Given the description of an element on the screen output the (x, y) to click on. 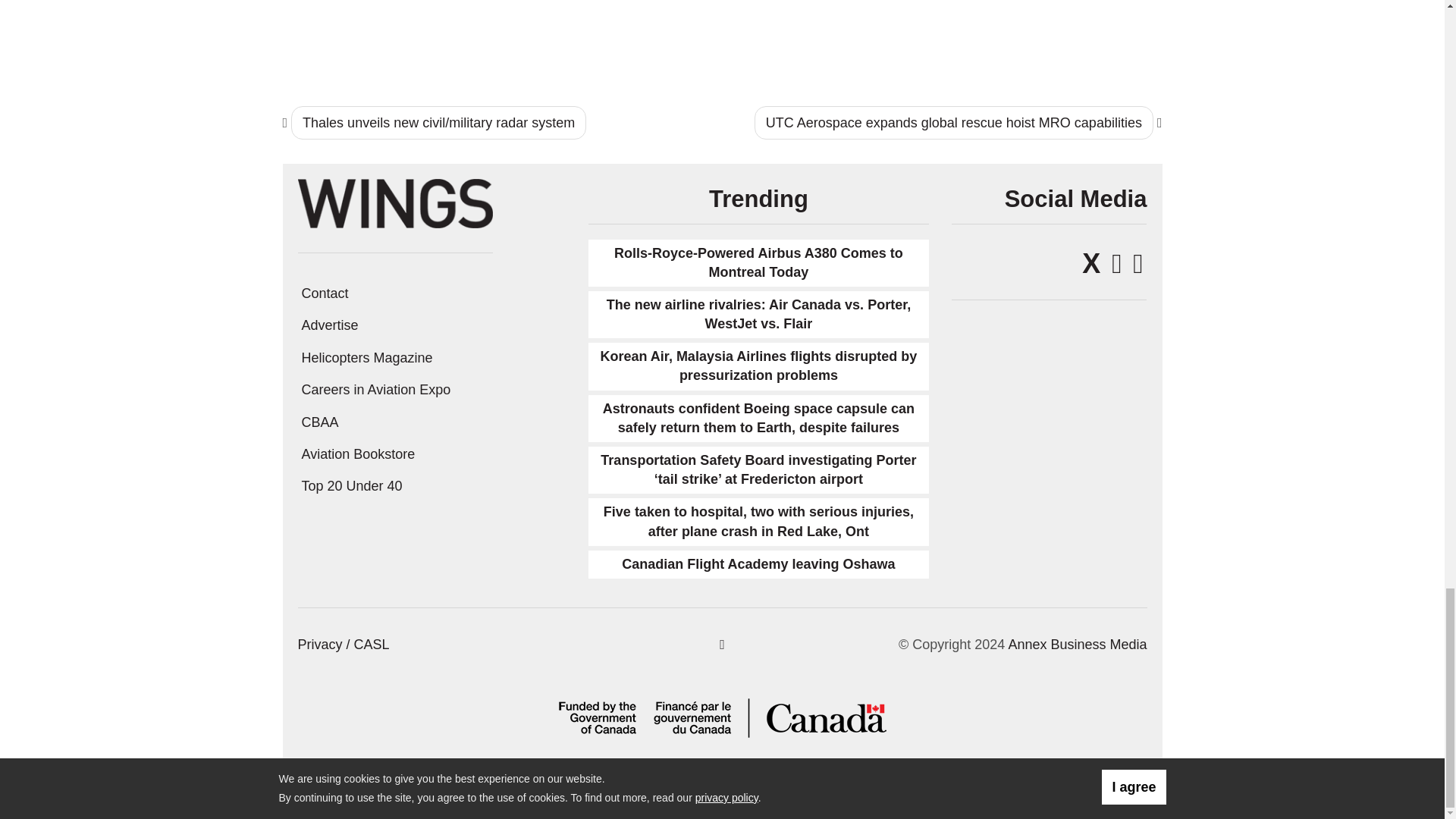
Wings Magazine (395, 201)
Annex Business Media (1077, 644)
3rd party ad content (1060, 37)
